Given the description of an element on the screen output the (x, y) to click on. 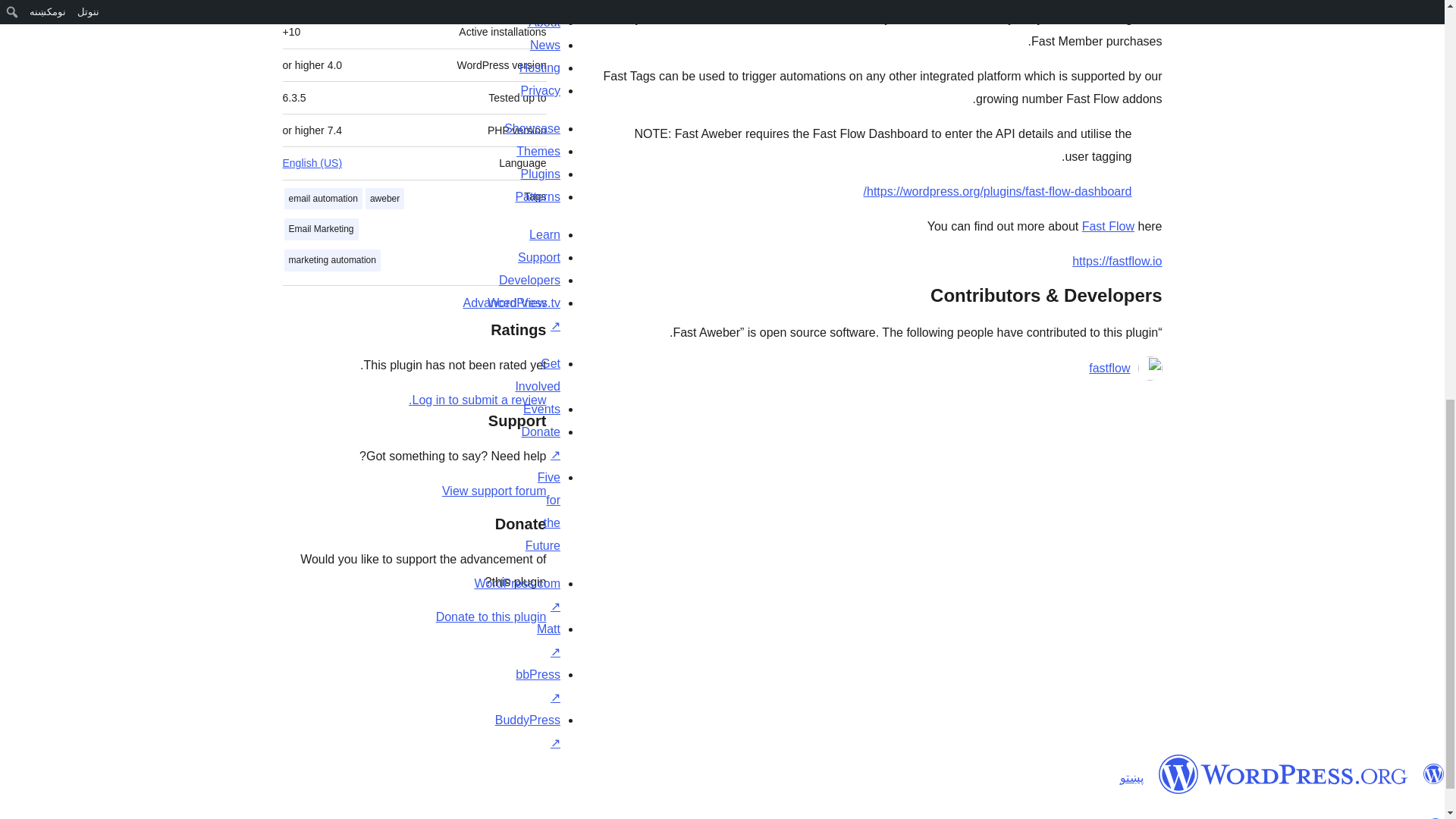
fastflow (1109, 368)
WordPress.org (1282, 773)
Fast Flow (1107, 226)
Log in to WordPress.org (477, 399)
